Given the description of an element on the screen output the (x, y) to click on. 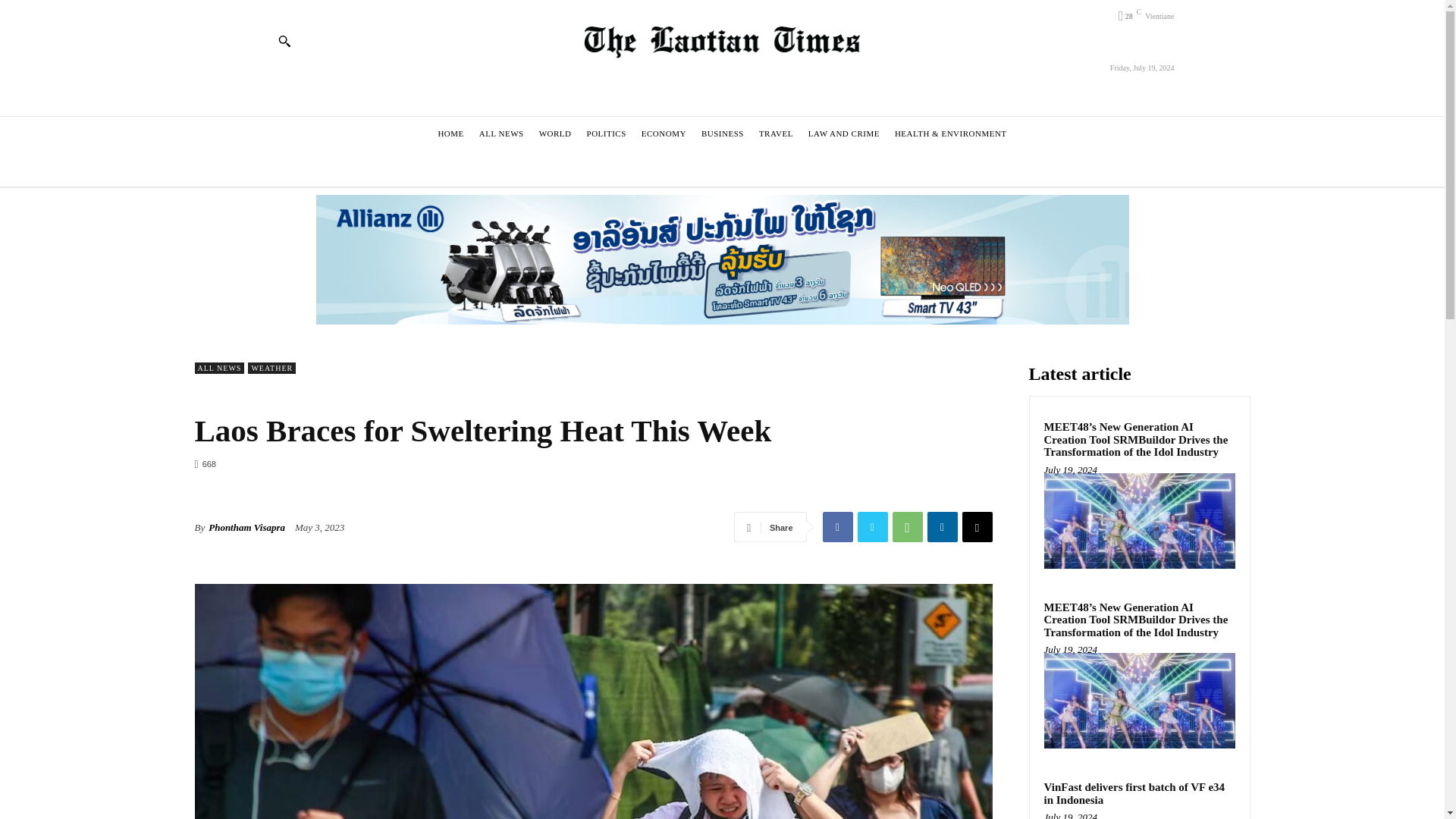
Phontham Visapra (246, 527)
Facebook (836, 526)
ALL NEWS (501, 133)
WEATHER (271, 367)
Email (975, 526)
POLITICS (606, 133)
ALL NEWS (218, 367)
HOME (450, 133)
Twitter (871, 526)
Linkedin (941, 526)
LAW AND CRIME (844, 133)
ECONOMY (663, 133)
WhatsApp (906, 526)
BUSINESS (722, 133)
TRAVEL (775, 133)
